Given the description of an element on the screen output the (x, y) to click on. 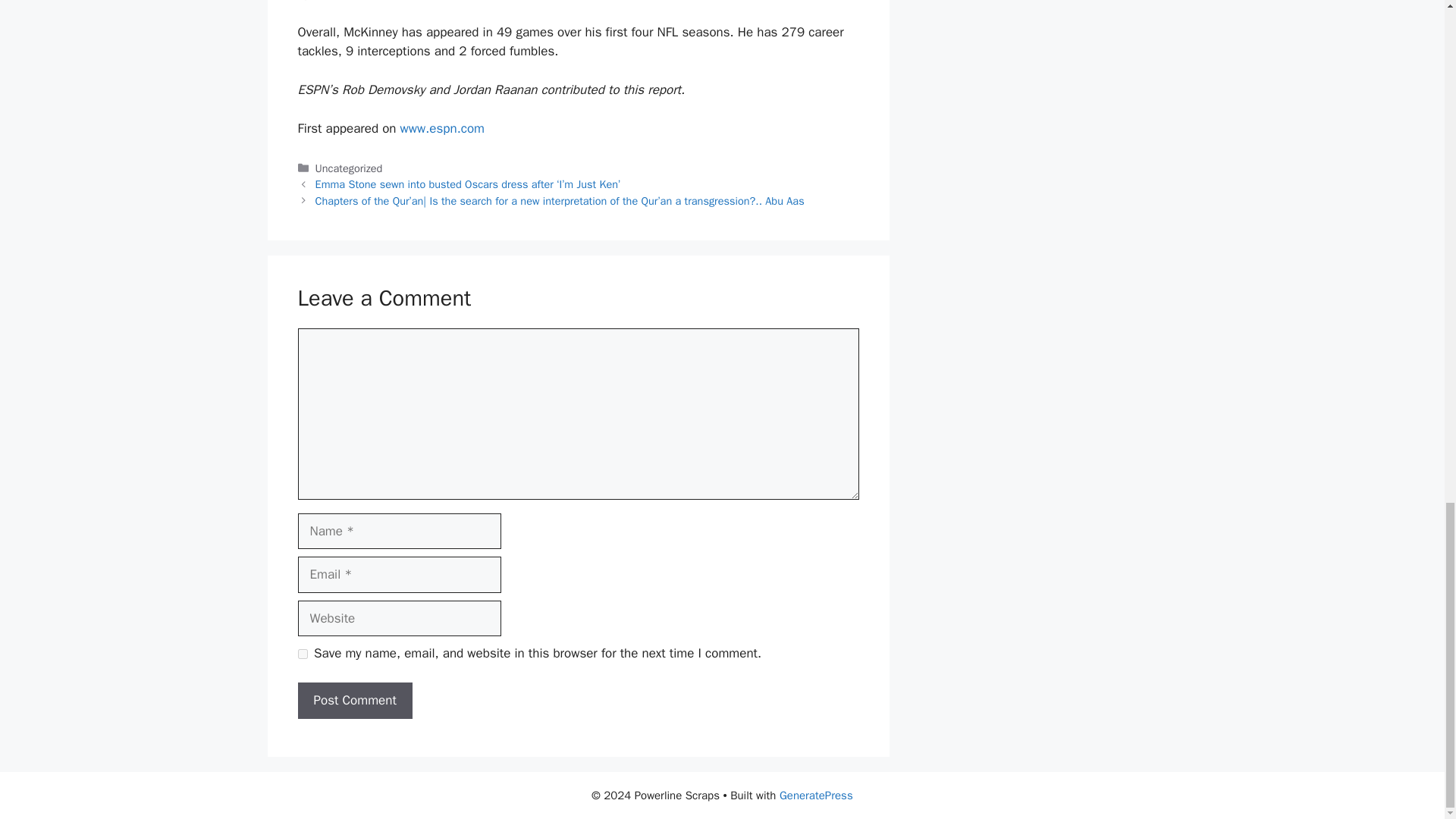
GeneratePress (815, 795)
yes (302, 654)
Post Comment (354, 700)
Post Comment (354, 700)
www.espn.com (442, 128)
